Given the description of an element on the screen output the (x, y) to click on. 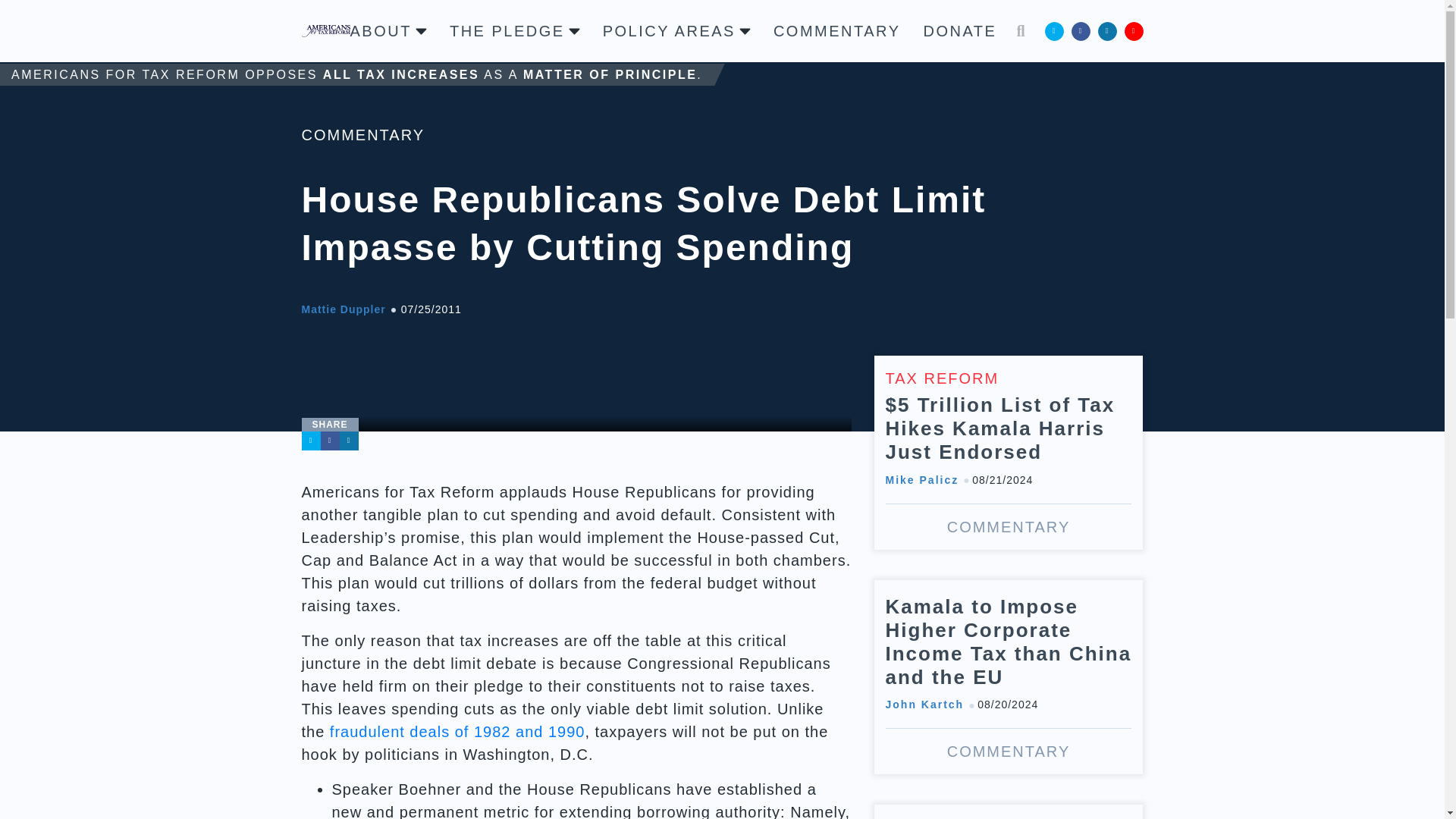
Facebook (329, 440)
DONATE (960, 30)
fraudulent deals of 1982 and 1990 (457, 731)
Twitter (1054, 30)
LinkedIn (348, 440)
Twitter (310, 440)
POLICY AREAS (676, 30)
Facebook (1079, 30)
LinkedIn (1106, 30)
COMMENTARY (837, 30)
